Given the description of an element on the screen output the (x, y) to click on. 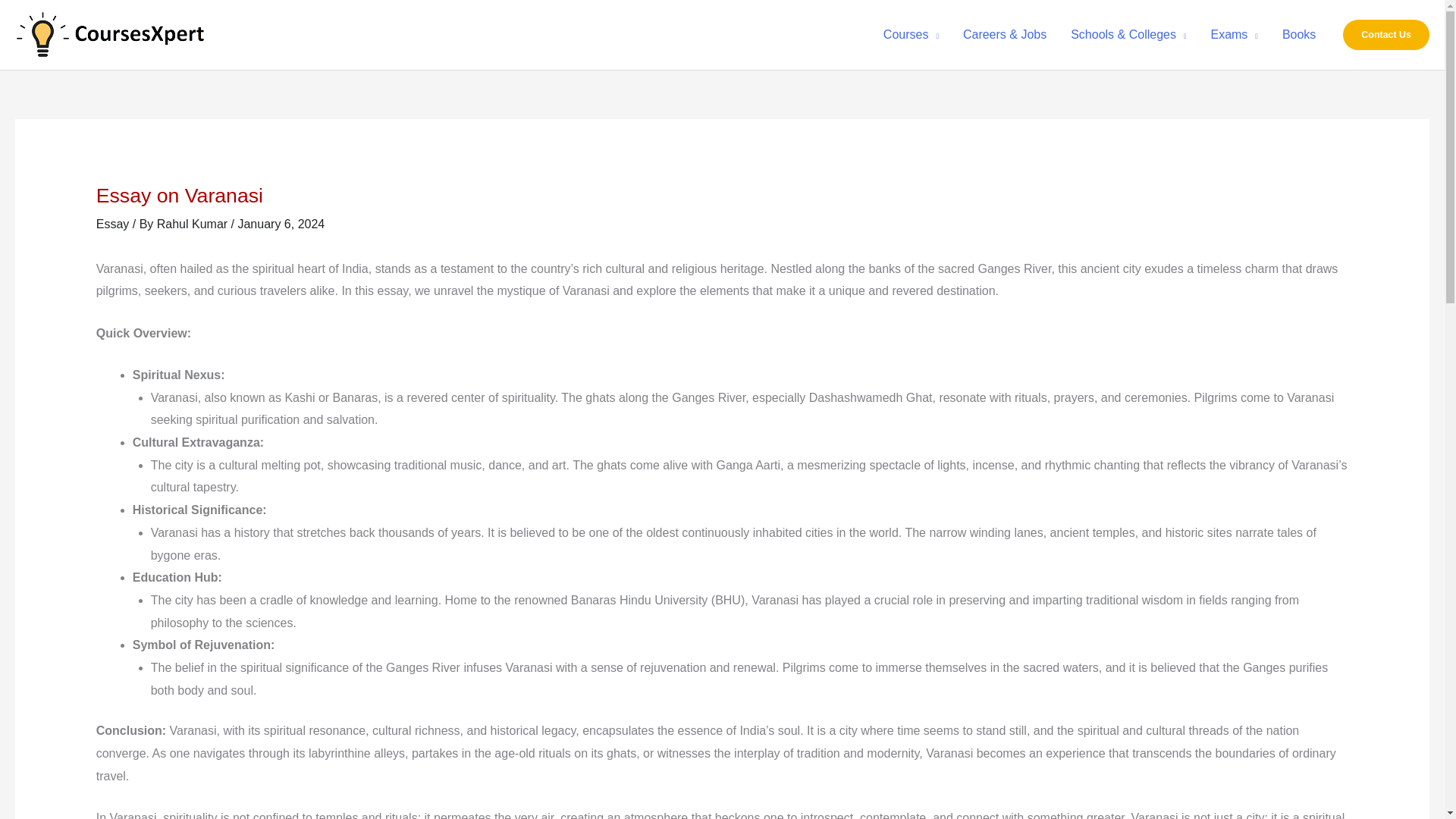
Rahul Kumar (194, 223)
Books (1298, 34)
Courses (910, 34)
View all posts by Rahul Kumar (194, 223)
Contact Us (1385, 34)
Exams (1233, 34)
Essay (112, 223)
